Given the description of an element on the screen output the (x, y) to click on. 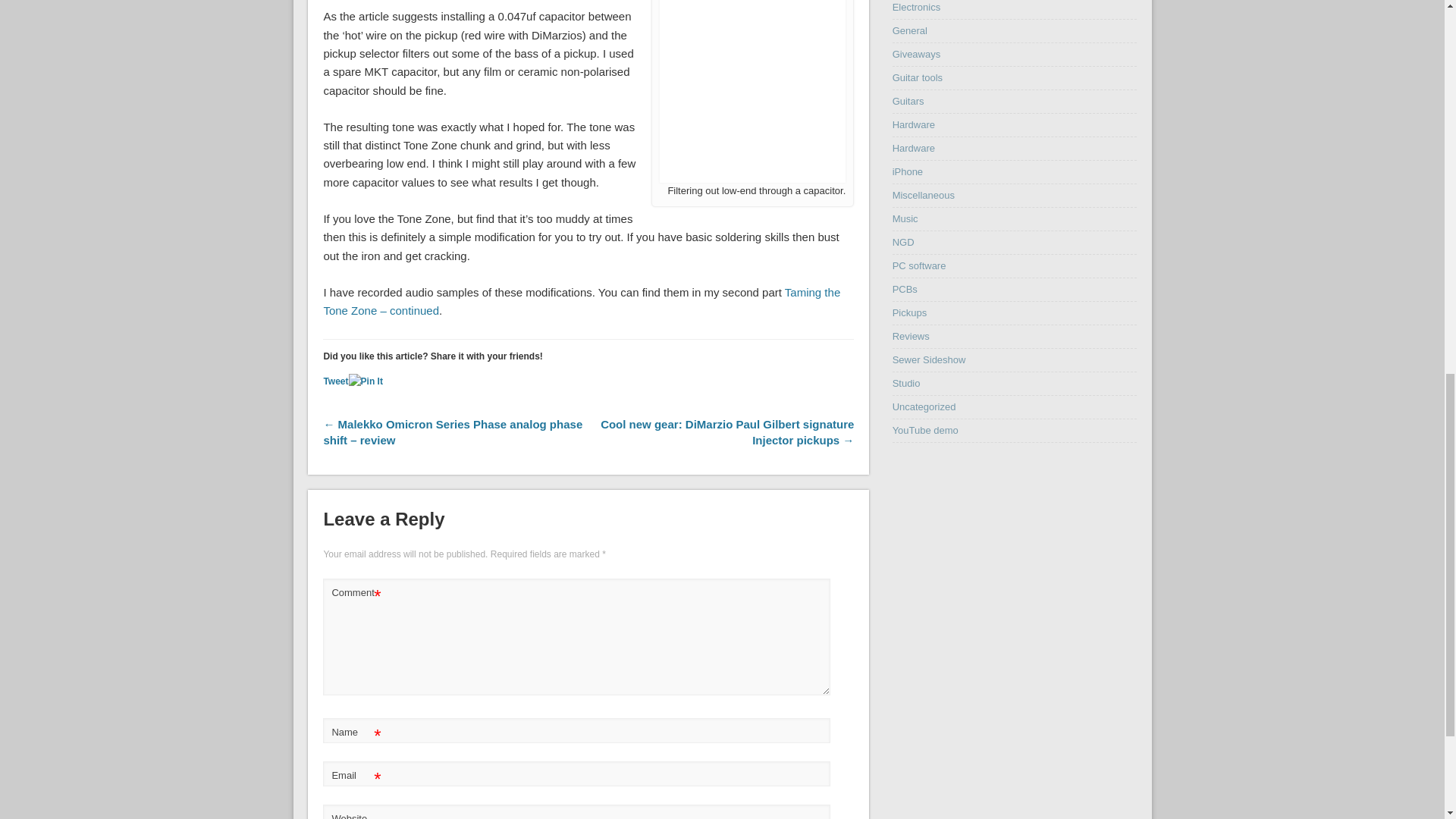
Pin It (365, 381)
Pickup mod (752, 91)
Tweet (335, 380)
